Given the description of an element on the screen output the (x, y) to click on. 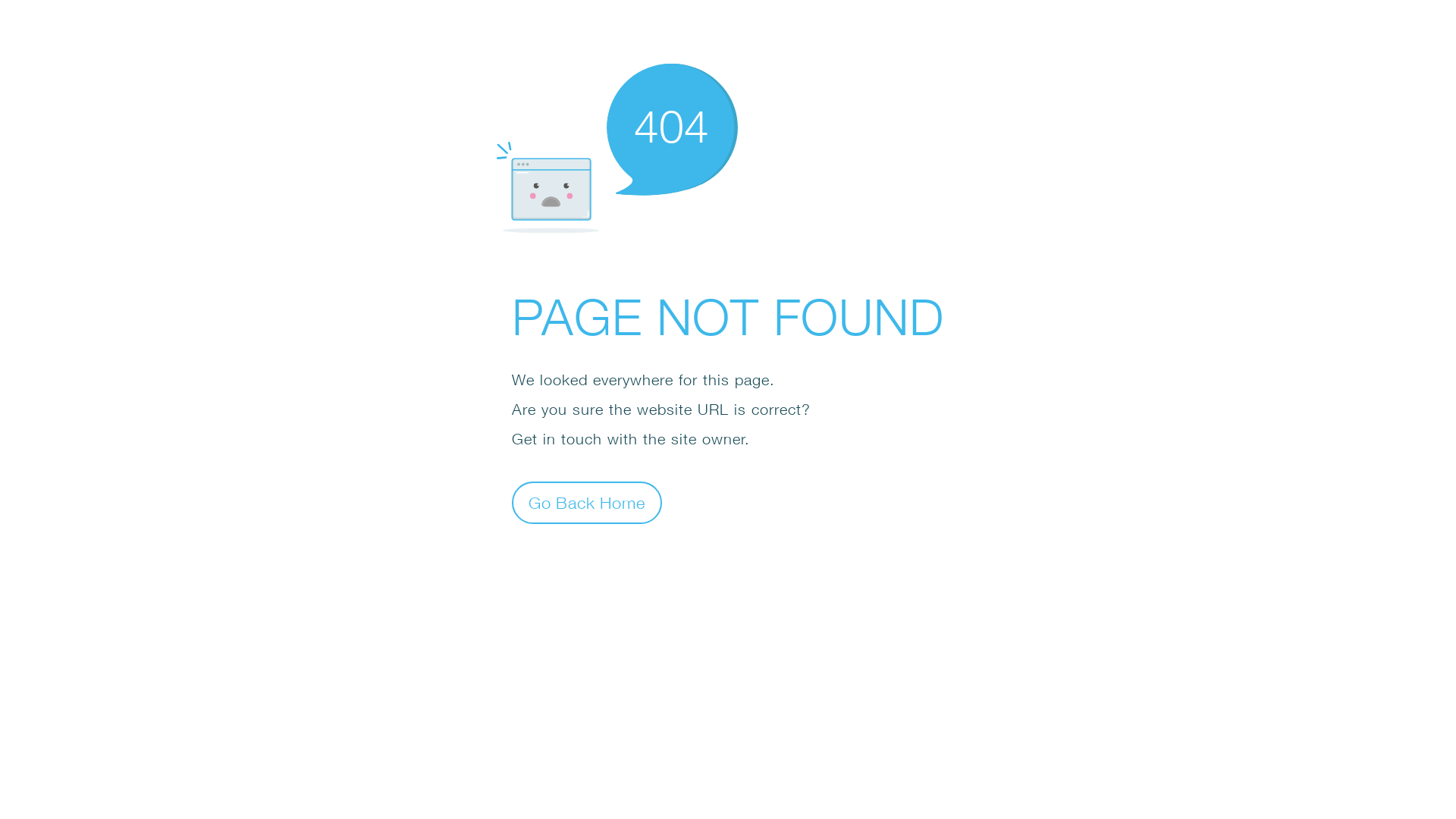
Go Back Home Element type: text (586, 502)
